Given the description of an element on the screen output the (x, y) to click on. 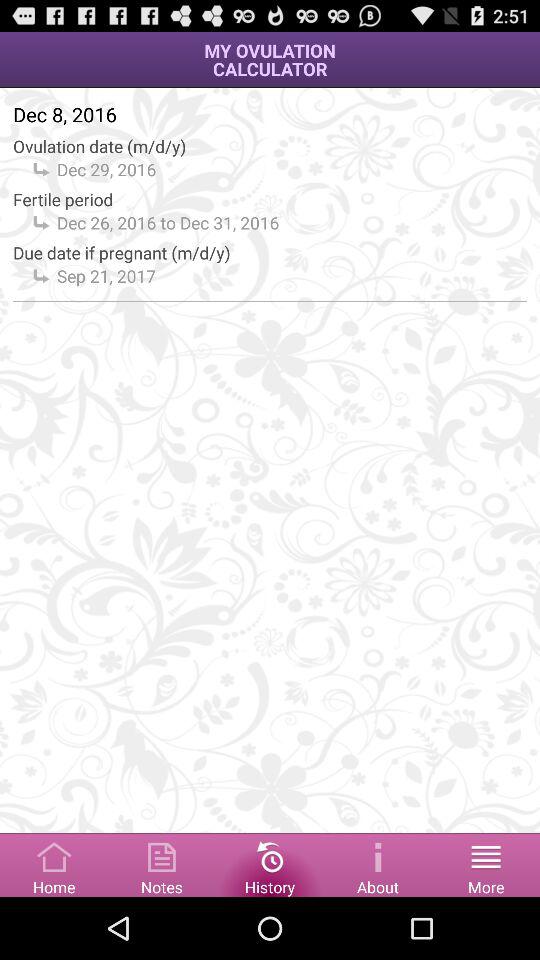
about icon (378, 864)
